Given the description of an element on the screen output the (x, y) to click on. 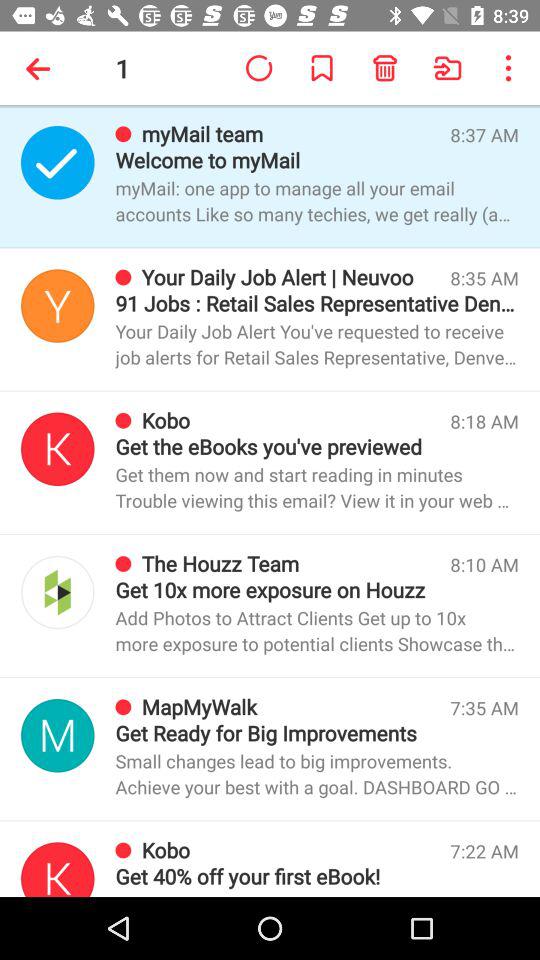
profile information (57, 869)
